Given the description of an element on the screen output the (x, y) to click on. 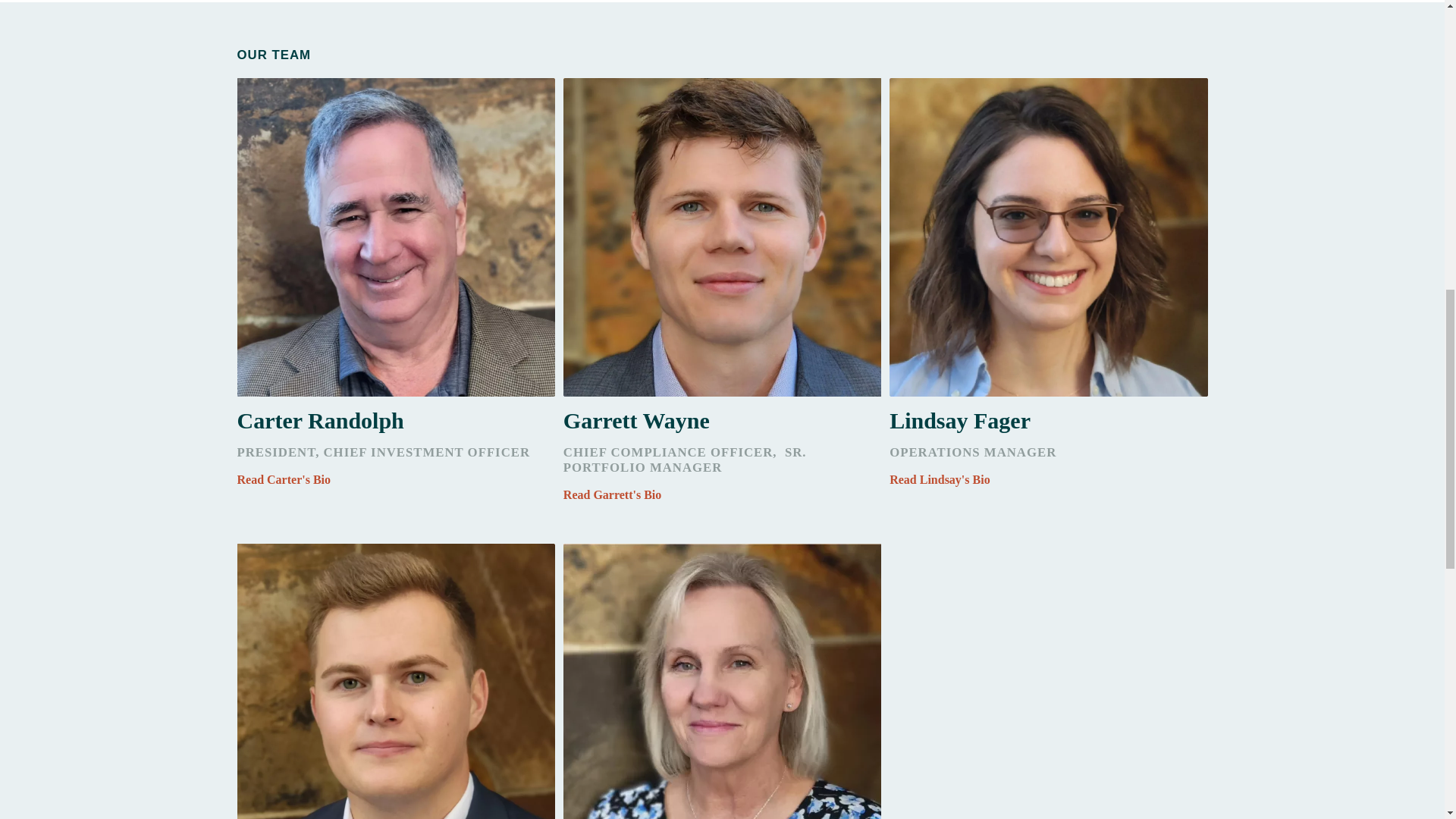
Read Lindsay's Bio (1048, 479)
Read Garrett's Bio (721, 494)
Read Carter's Bio (394, 479)
